Given the description of an element on the screen output the (x, y) to click on. 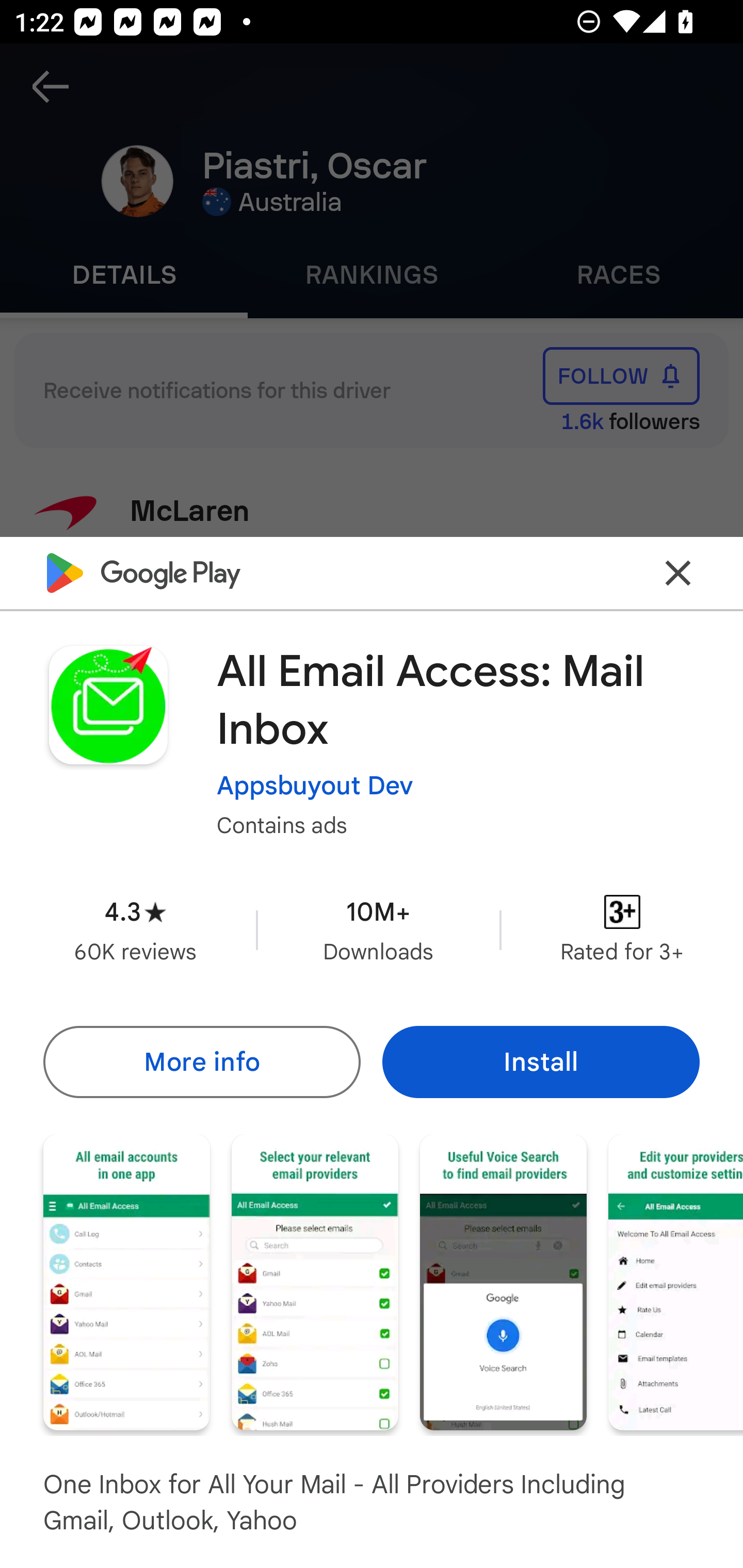
Close (677, 572)
Appsbuyout Dev (314, 784)
More info (201, 1061)
Install (540, 1061)
Screenshot "1" of "7" (126, 1281)
Screenshot "2" of "7" (314, 1281)
Screenshot "3" of "7" (502, 1281)
Screenshot "4" of "7" (675, 1281)
